Given the description of an element on the screen output the (x, y) to click on. 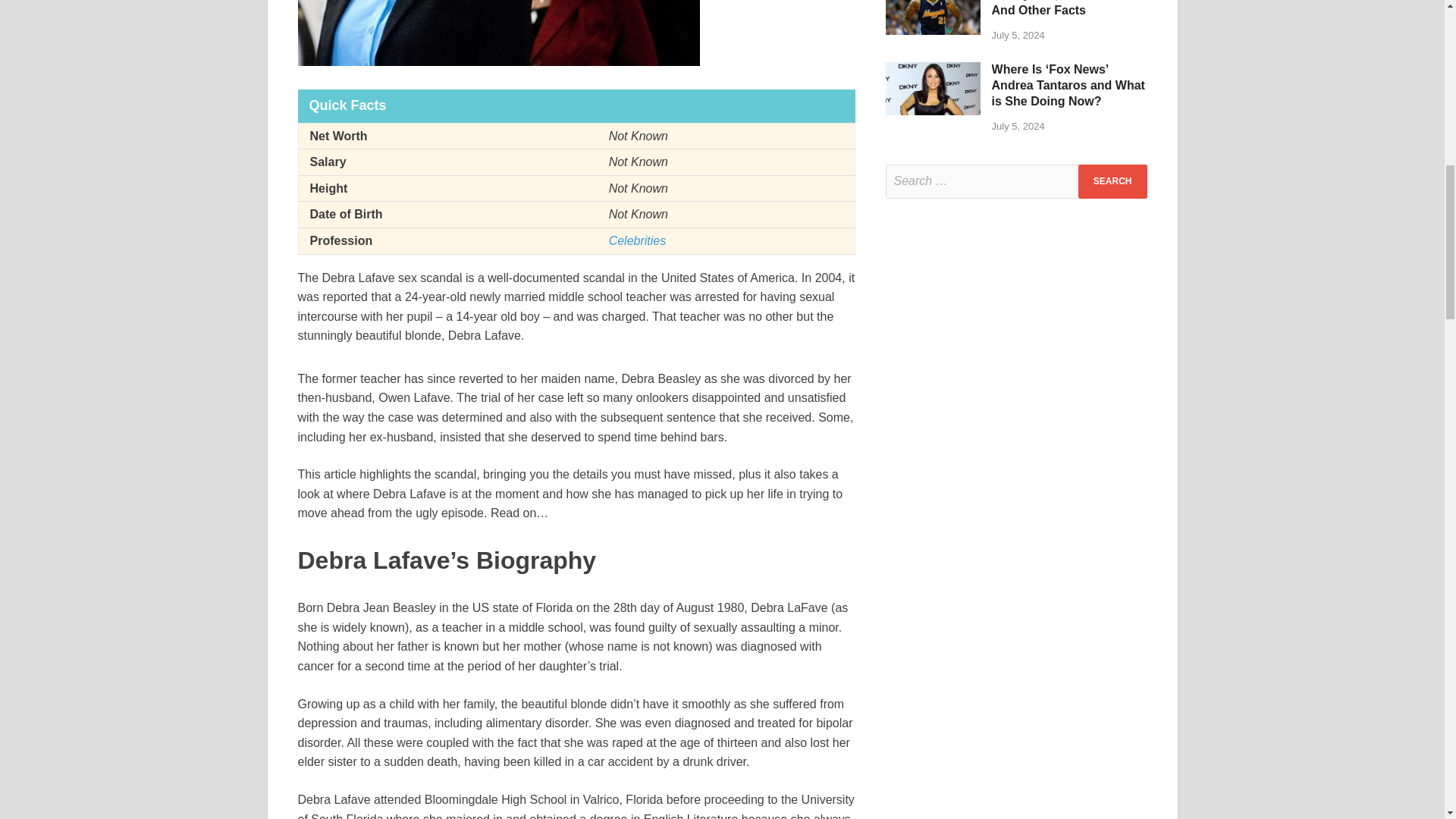
Search (1112, 181)
Search (1112, 181)
Celebrities (637, 240)
